Given the description of an element on the screen output the (x, y) to click on. 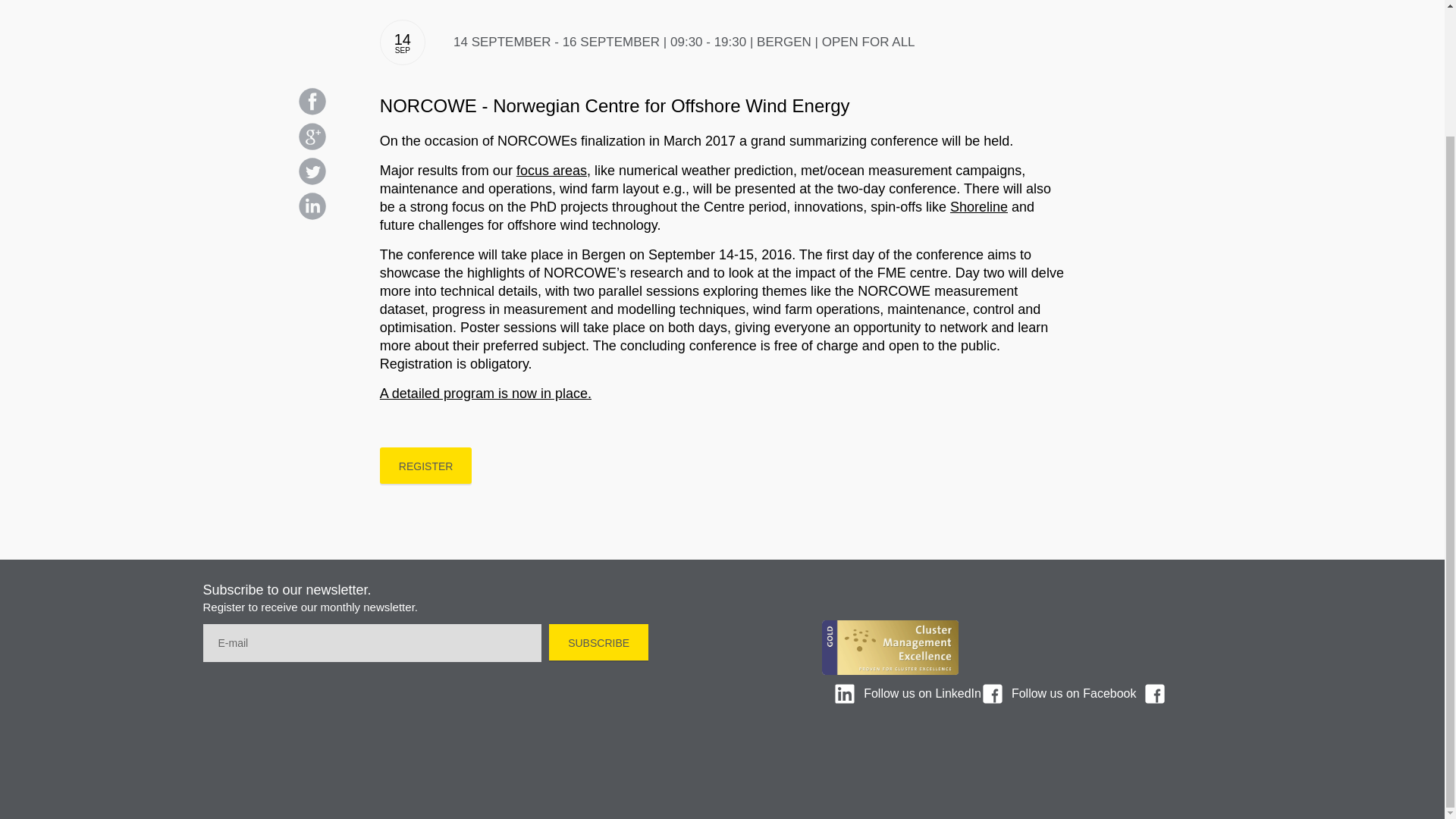
Share this page on facebook (312, 101)
Share this page on googleplus (312, 135)
Subscribe (597, 642)
Share this page on linkedin (312, 206)
Share this page on twitter (312, 171)
focus areas (551, 170)
